Given the description of an element on the screen output the (x, y) to click on. 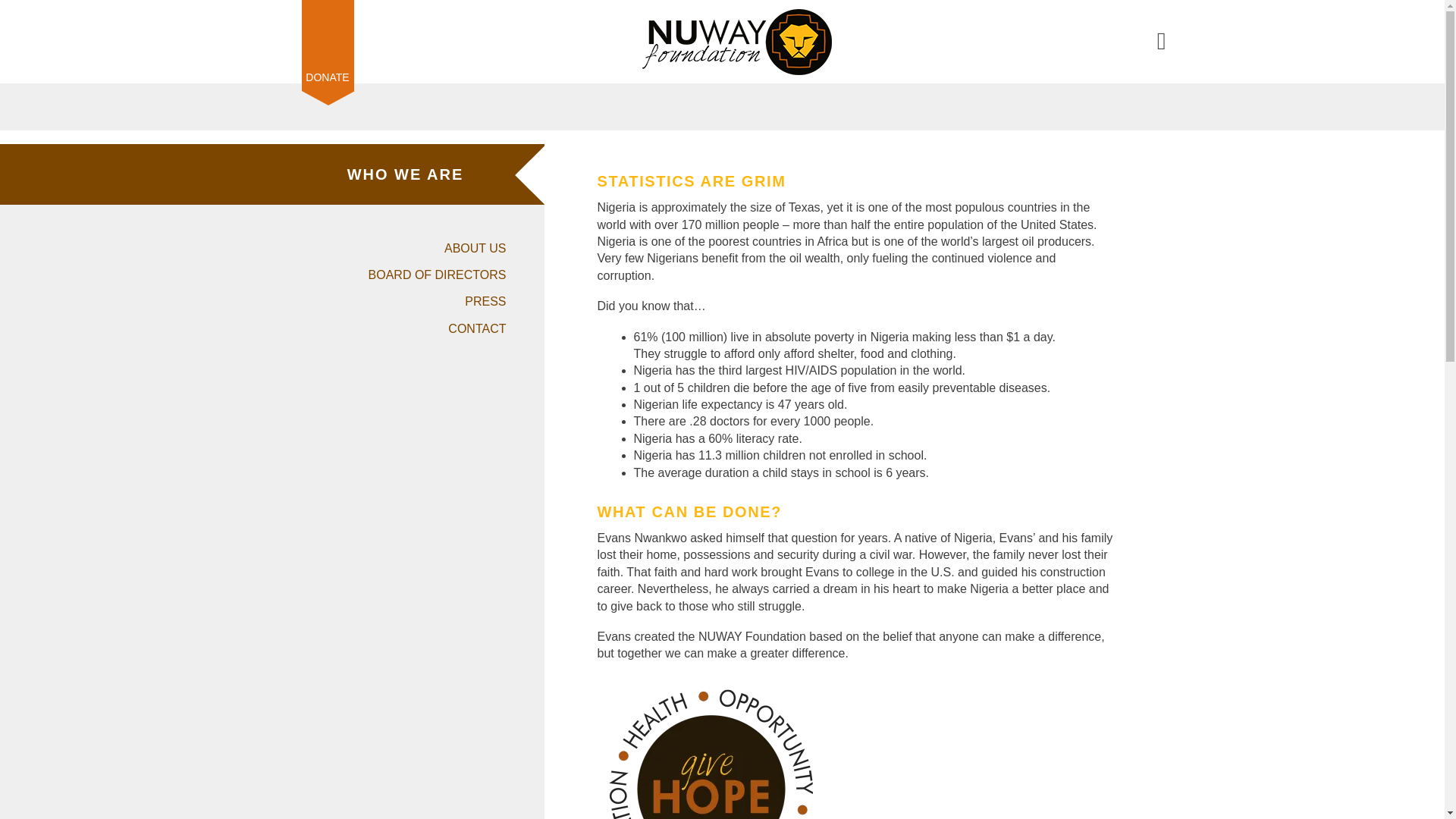
logo (736, 42)
